Given the description of an element on the screen output the (x, y) to click on. 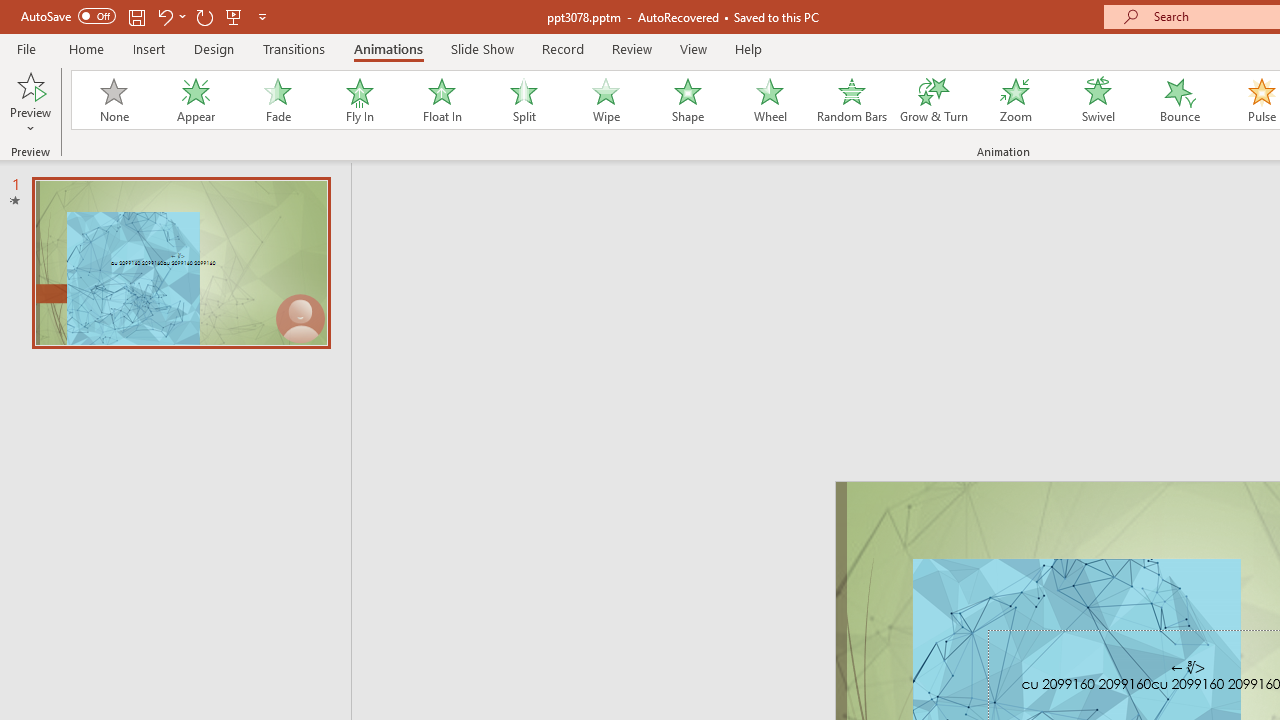
Fly In (359, 100)
Float In (441, 100)
Swivel (1098, 100)
Wipe (605, 100)
Fade (277, 100)
None (113, 100)
Bounce (1180, 100)
